Given the description of an element on the screen output the (x, y) to click on. 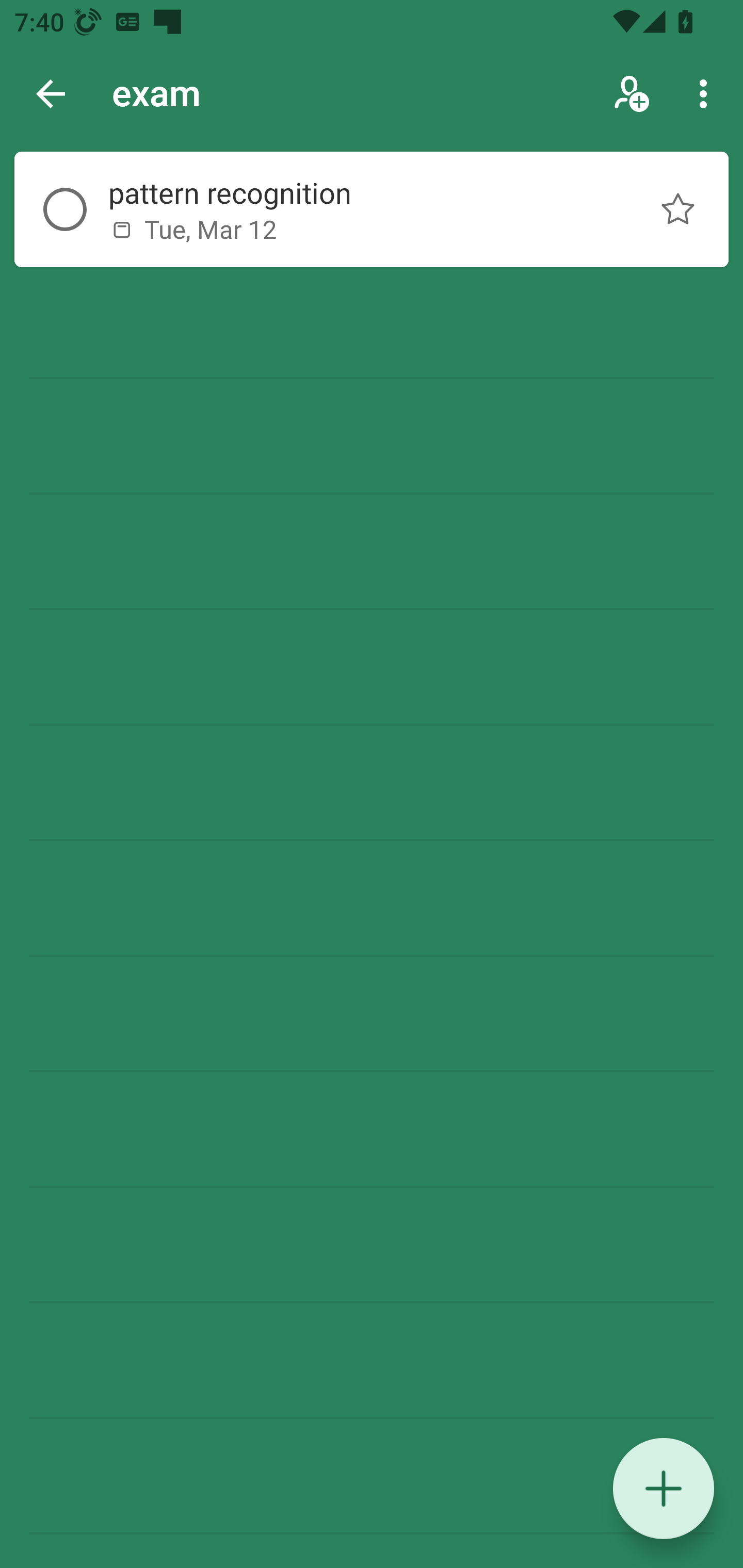
Back (50, 93)
testappium002@outlook.com Enter search (185, 93)
Share list (632, 93)
More options (706, 93)
Incomplete task pattern recognition, Button (64, 209)
Normal task pattern recognition, Button (677, 209)
pattern recognition (356, 191)
Add a task (663, 1488)
